Given the description of an element on the screen output the (x, y) to click on. 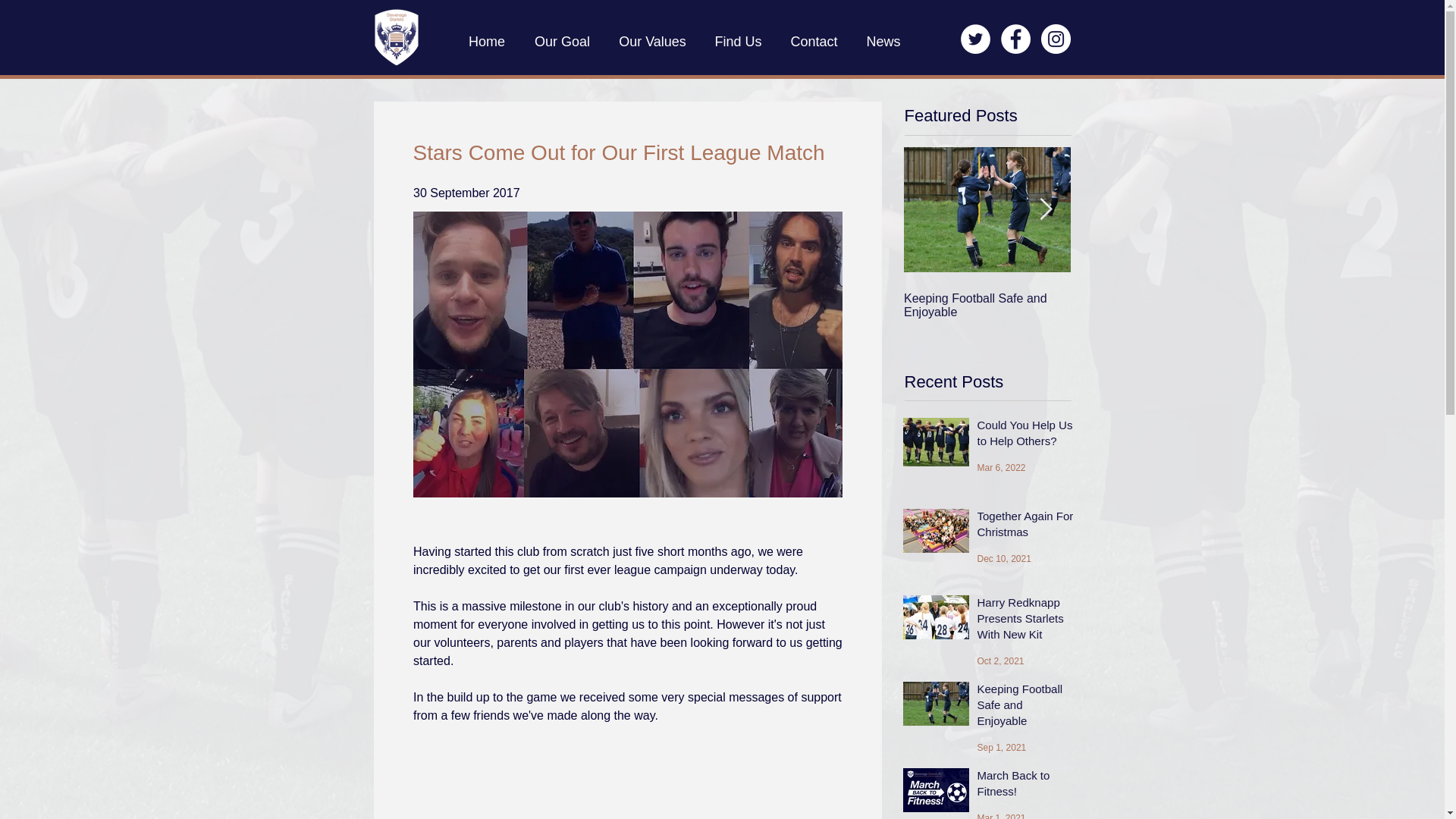
March Back to Fitness! (1025, 786)
Keeping Football Safe and Enjoyable (1025, 707)
Sep 1, 2021 (1001, 747)
Mar 6, 2022 (1000, 467)
Contact (813, 41)
Keeping Football Safe and Enjoyable (987, 305)
News (883, 41)
Dec 10, 2021 (1003, 558)
Oct 2, 2021 (999, 661)
Find Us (738, 41)
Our Goal (562, 41)
Could You Help Us to Help Others? (1025, 435)
Our Values (652, 41)
Together Again For Christmas (1025, 526)
Mar 1, 2021 (1000, 816)
